Given the description of an element on the screen output the (x, y) to click on. 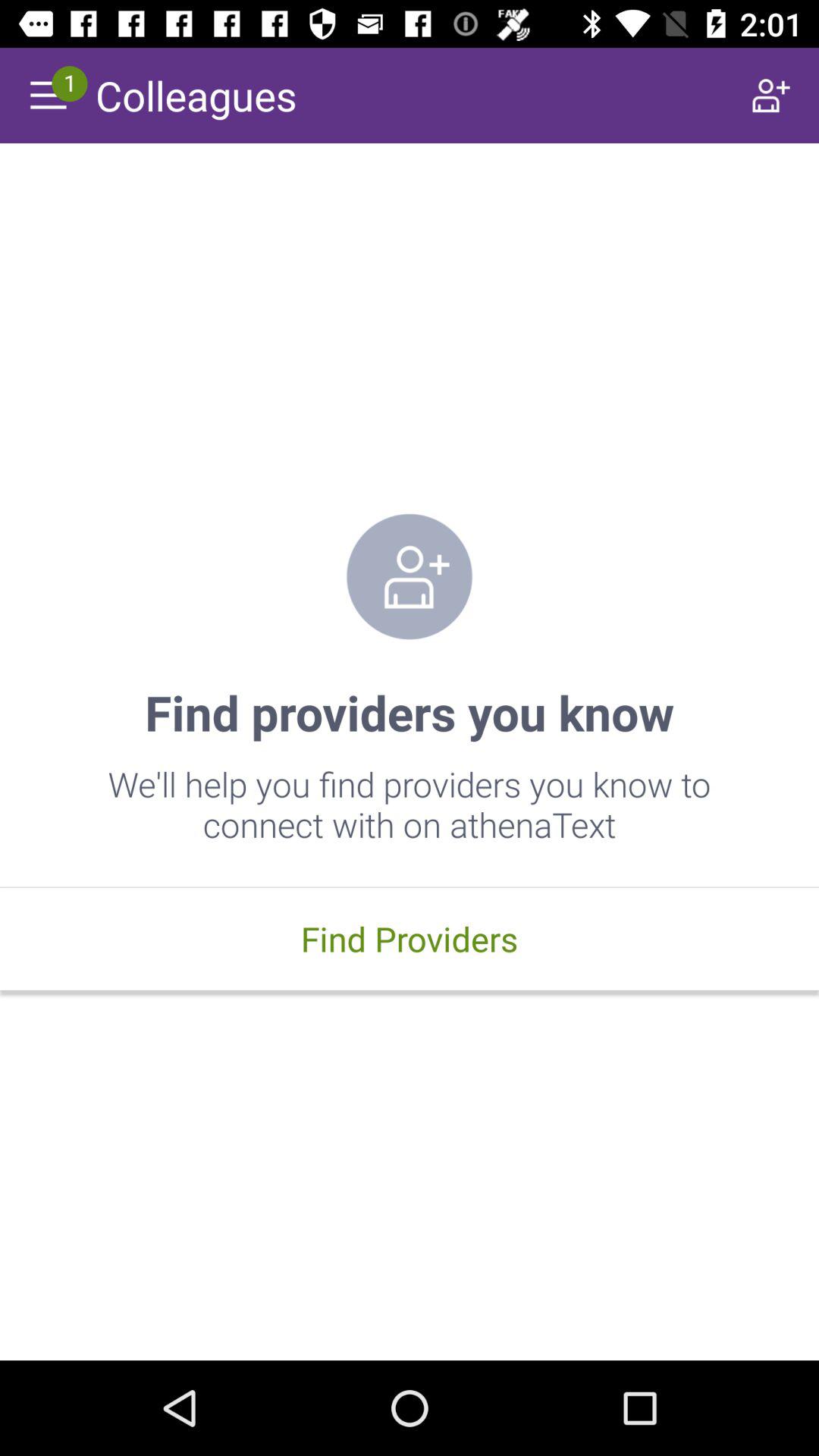
launch the item at the top right corner (771, 95)
